Given the description of an element on the screen output the (x, y) to click on. 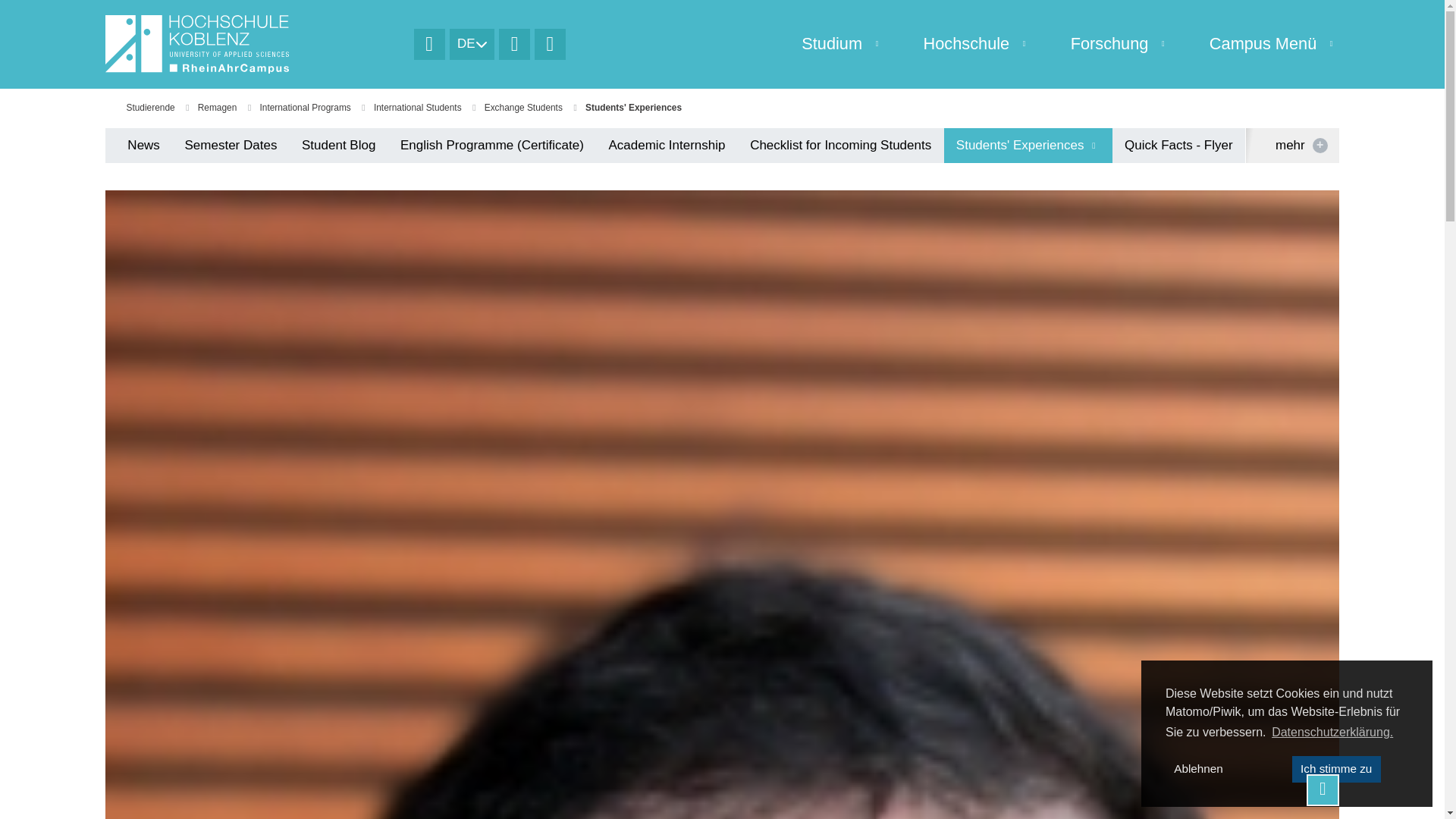
Studium (822, 44)
Zur Startseite (429, 43)
Ich stimme zu (1336, 768)
Kontrastmodus umschalten (514, 43)
Hochschule (958, 44)
RheinAhrCampus Remagen (253, 44)
Ablehnen (1198, 768)
Forschung (1101, 44)
